Given the description of an element on the screen output the (x, y) to click on. 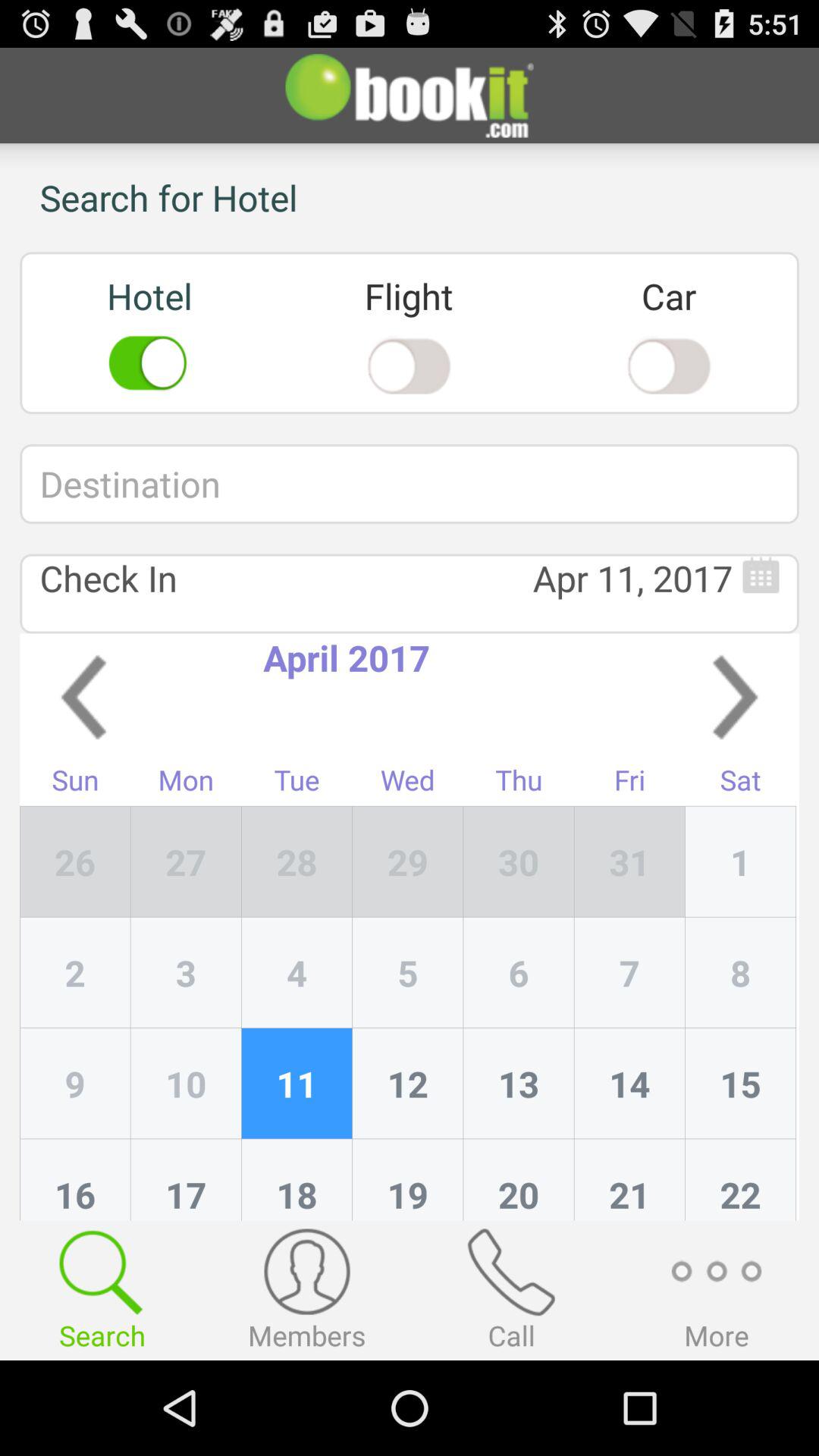
choose the icon next to tue icon (407, 861)
